Given the description of an element on the screen output the (x, y) to click on. 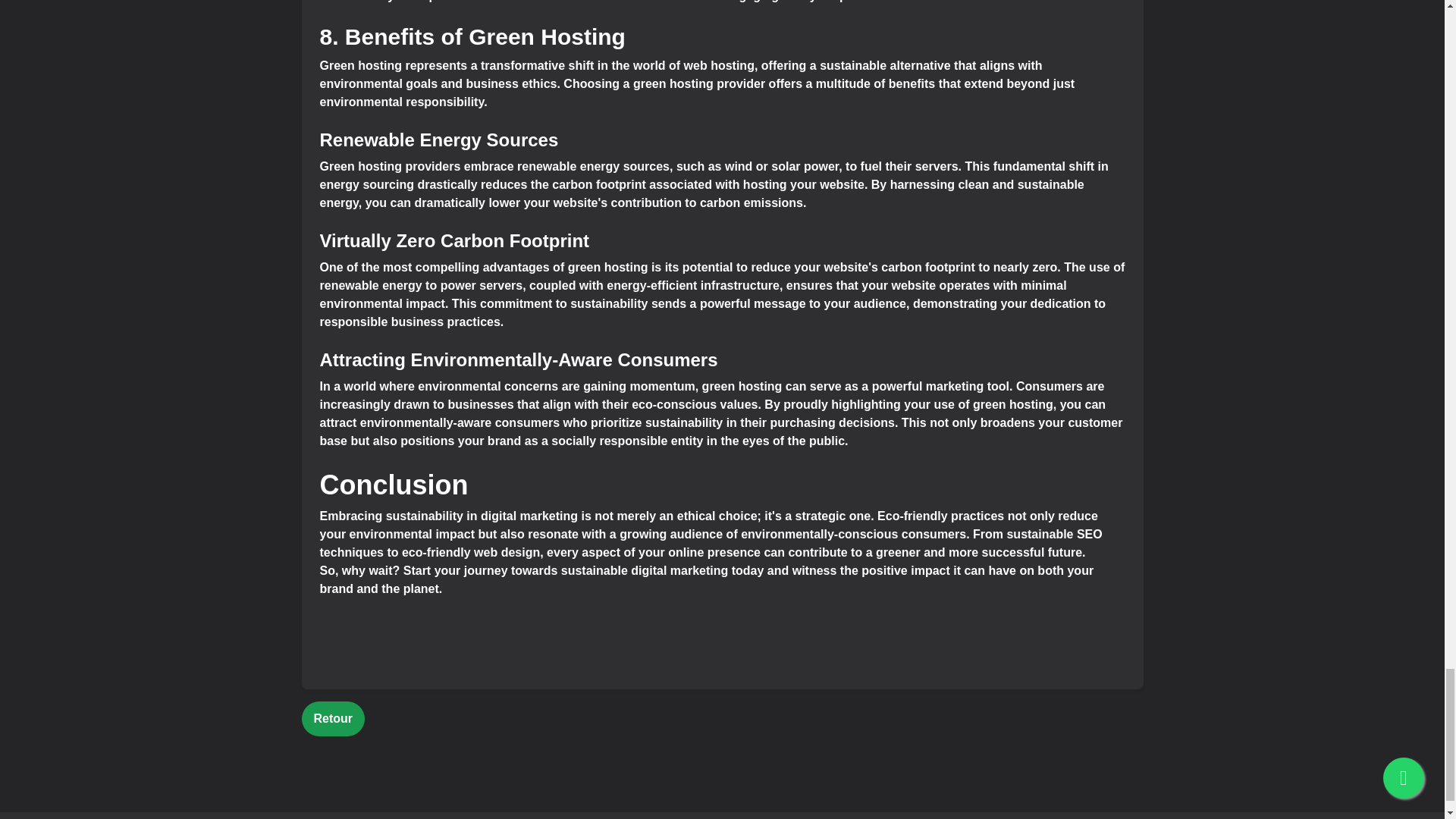
Retour (333, 718)
